Given the description of an element on the screen output the (x, y) to click on. 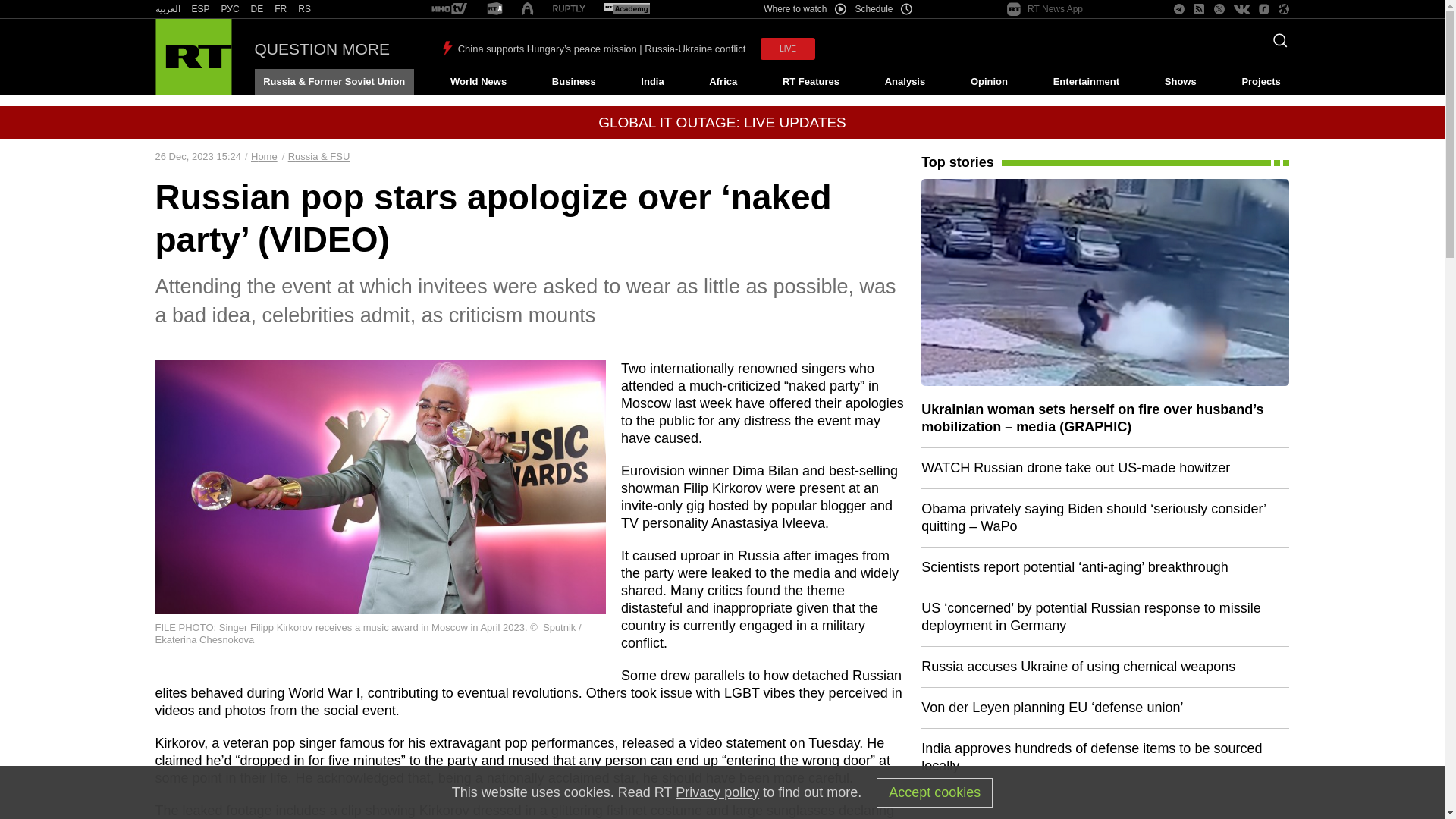
QUESTION MORE (322, 48)
Entertainment (1085, 81)
Analysis (905, 81)
RT  (494, 9)
RT  (256, 9)
Opinion (988, 81)
Africa (722, 81)
RT  (569, 8)
Where to watch (803, 9)
RT  (448, 9)
RT News App (1045, 9)
Business (573, 81)
FR (280, 9)
Search (1276, 44)
DE (256, 9)
